Given the description of an element on the screen output the (x, y) to click on. 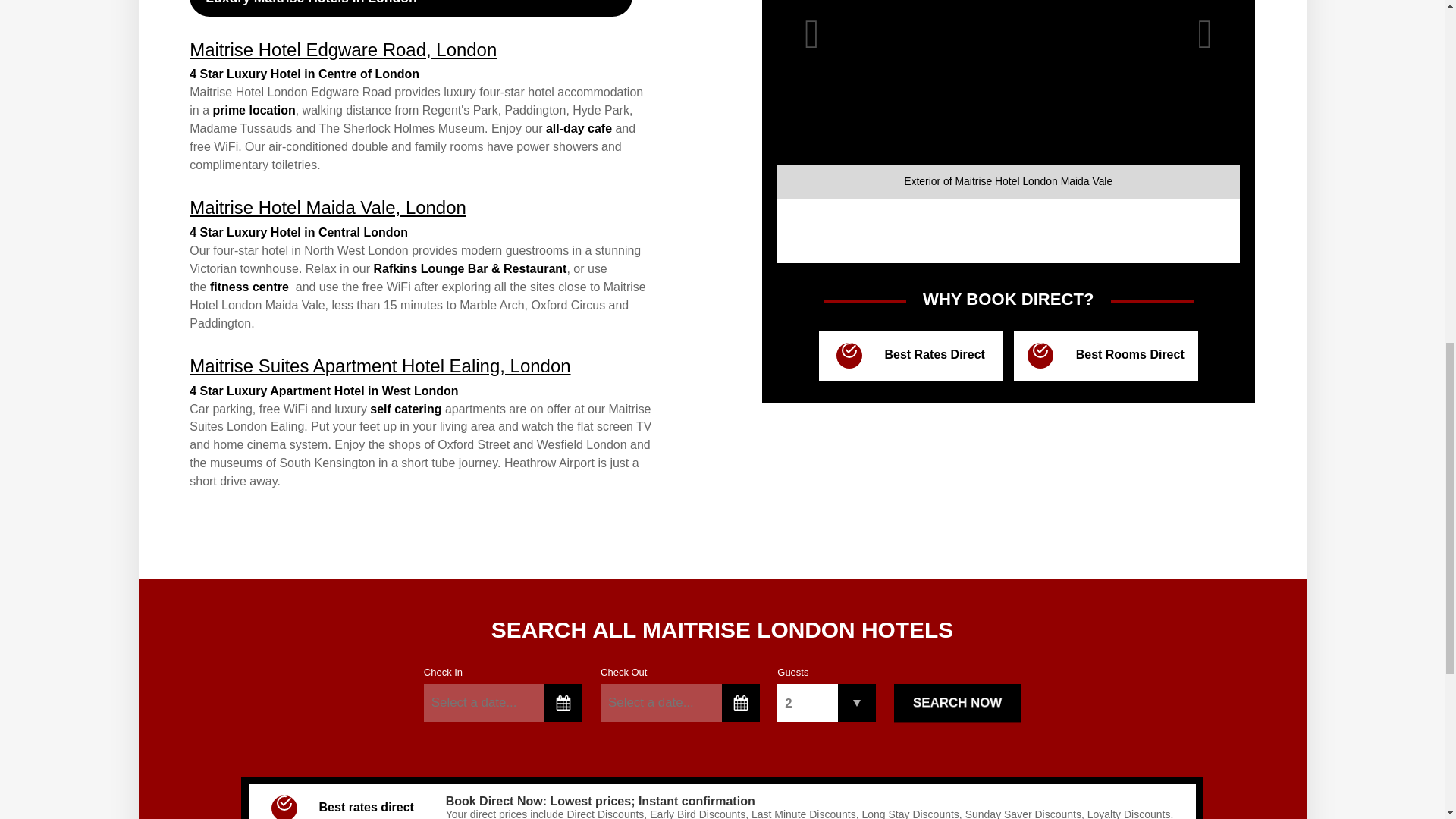
Search Now (956, 702)
Maitrise Hotel Edgware Road, London (342, 49)
Maitrise Hotel Maida Vale, London (327, 207)
Search Now (956, 702)
Maitrise Suites Apartment Hotel Ealing, London (379, 365)
